Given the description of an element on the screen output the (x, y) to click on. 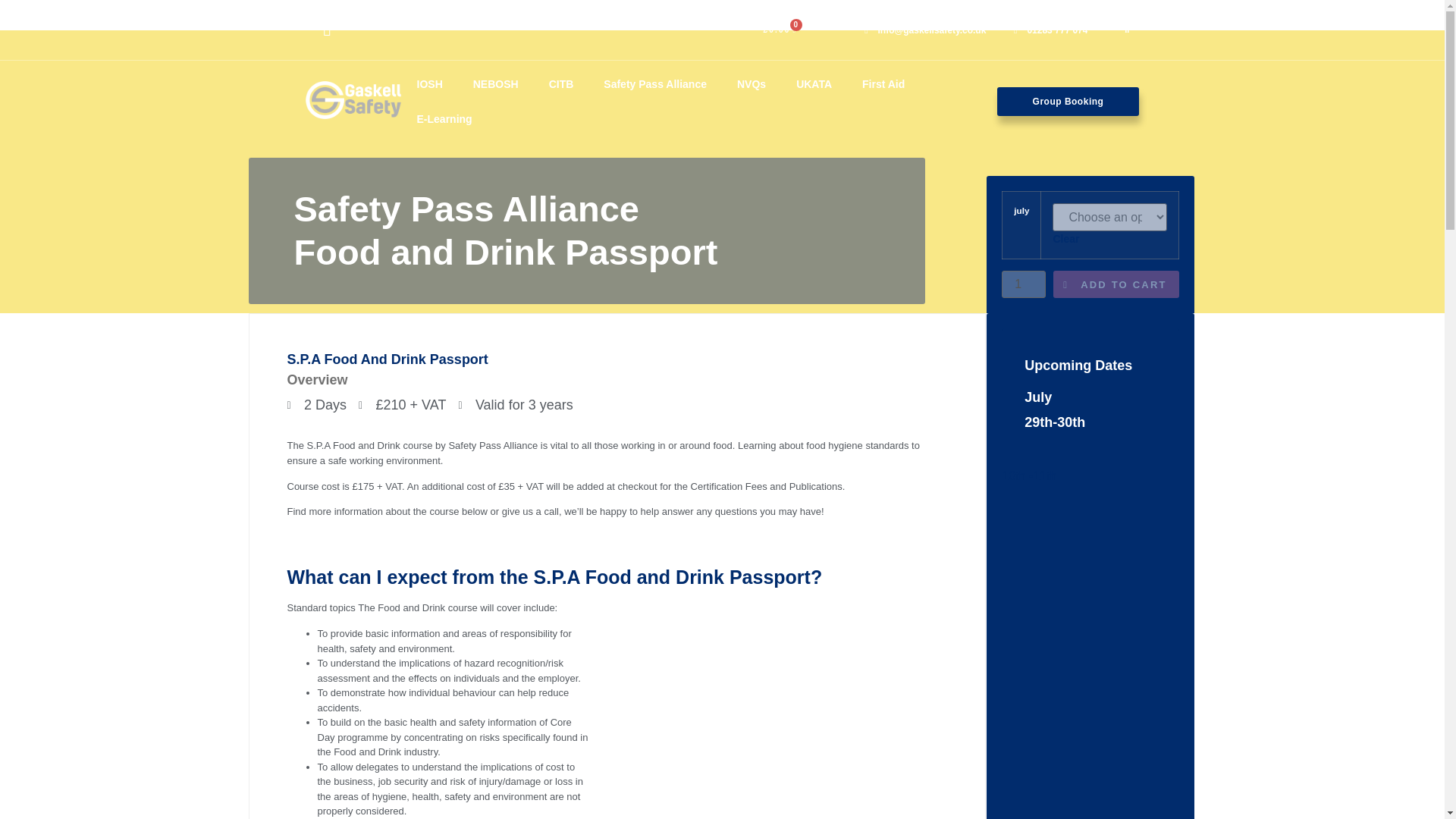
First Aid (883, 83)
IOSH (429, 83)
01283 777 074 (1046, 29)
Clear (1065, 238)
UKATA (813, 83)
Group Booking (1067, 101)
1 (1023, 284)
NVQs (751, 83)
Safety Pass Alliance (655, 83)
Qty (1023, 284)
E-Learning (444, 118)
CITB (561, 83)
ADD TO CART (1114, 284)
NEBOSH (496, 83)
